Given the description of an element on the screen output the (x, y) to click on. 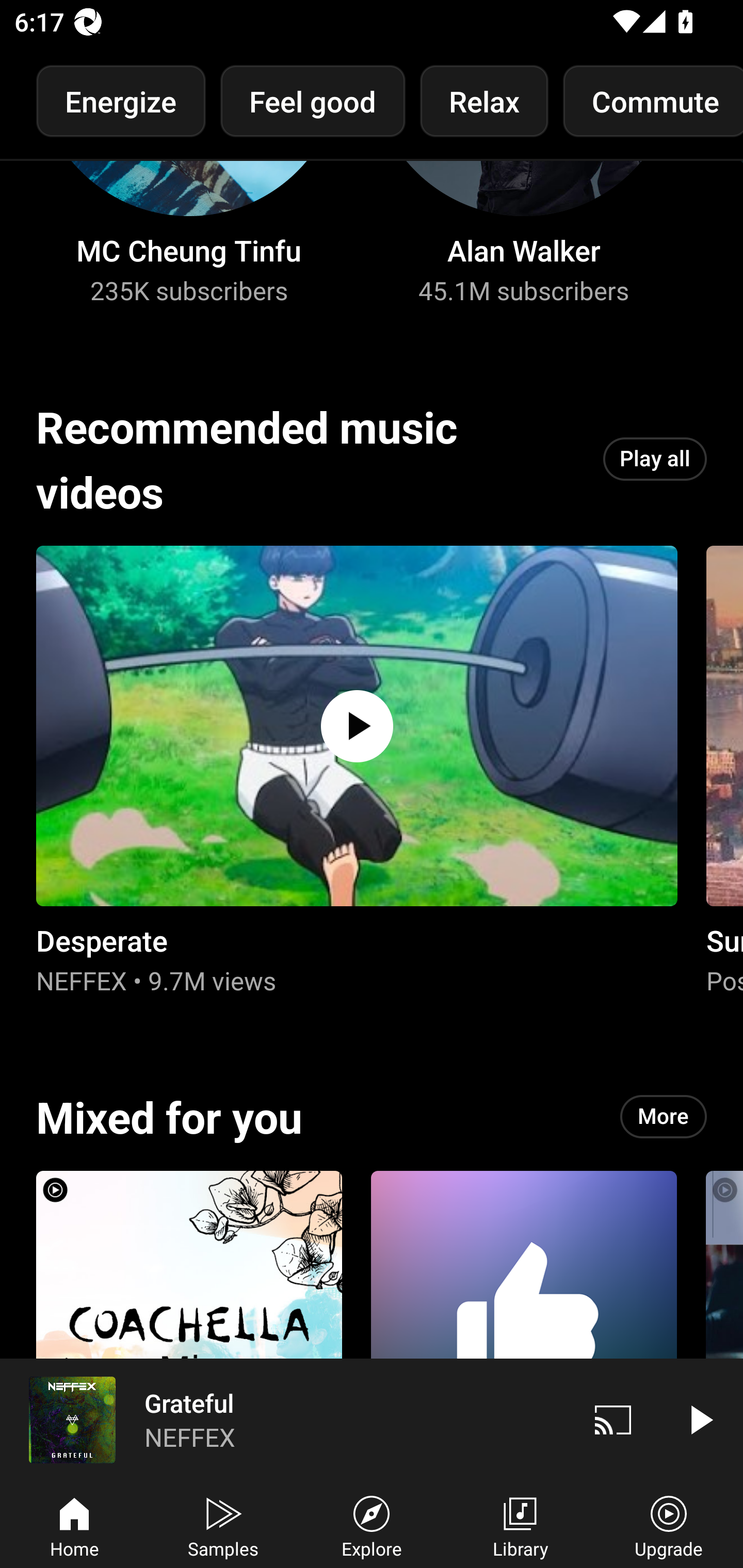
Grateful NEFFEX (284, 1419)
Cast. Disconnected (612, 1419)
Play video (699, 1419)
Home (74, 1524)
Samples (222, 1524)
Explore (371, 1524)
Library (519, 1524)
Upgrade (668, 1524)
